Given the description of an element on the screen output the (x, y) to click on. 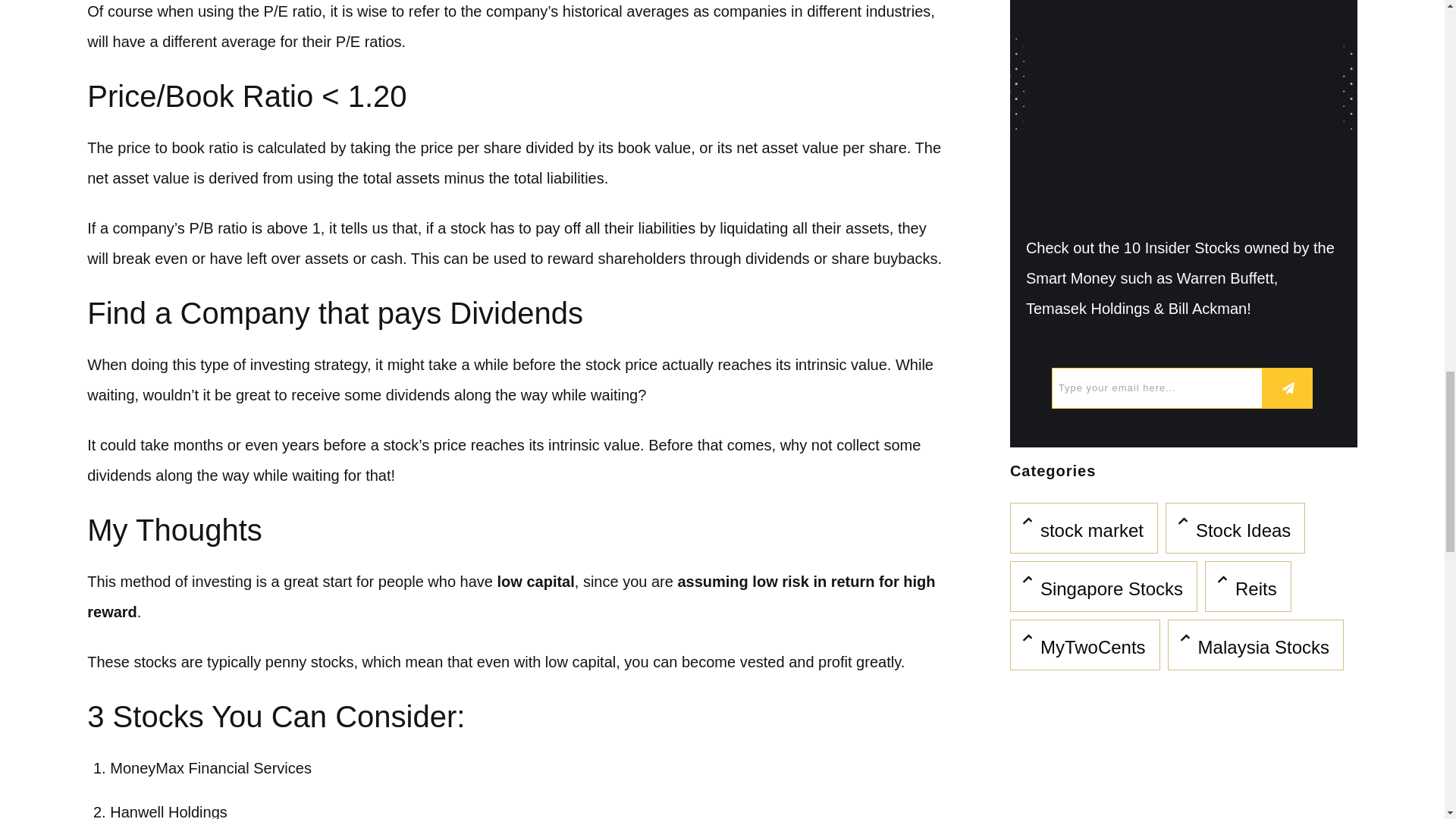
stock market (1091, 530)
Malaysia Stocks (1263, 647)
MyTwoCents (1093, 647)
Singapore Stocks (1111, 588)
Reits (1255, 588)
Stock Ideas (1242, 530)
10 Insider Stocks Final (1183, 108)
